Given the description of an element on the screen output the (x, y) to click on. 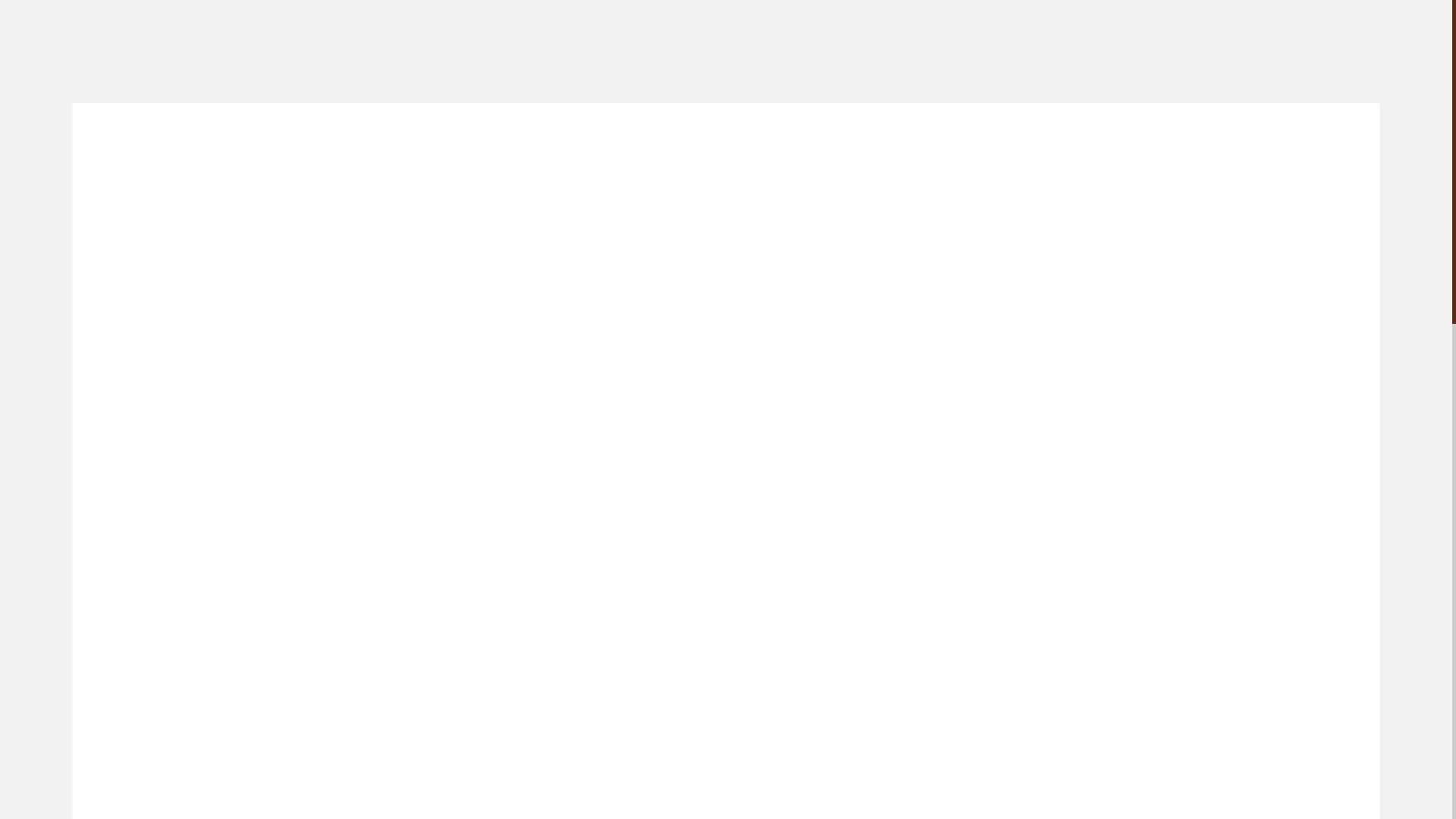
0 (1114, 149)
COFFRET (747, 149)
CAPSULE (807, 149)
Basket (1114, 149)
ACCUEIL (502, 149)
CONTACT US (946, 149)
RECHARGE (871, 149)
Home (658, 210)
